Given the description of an element on the screen output the (x, y) to click on. 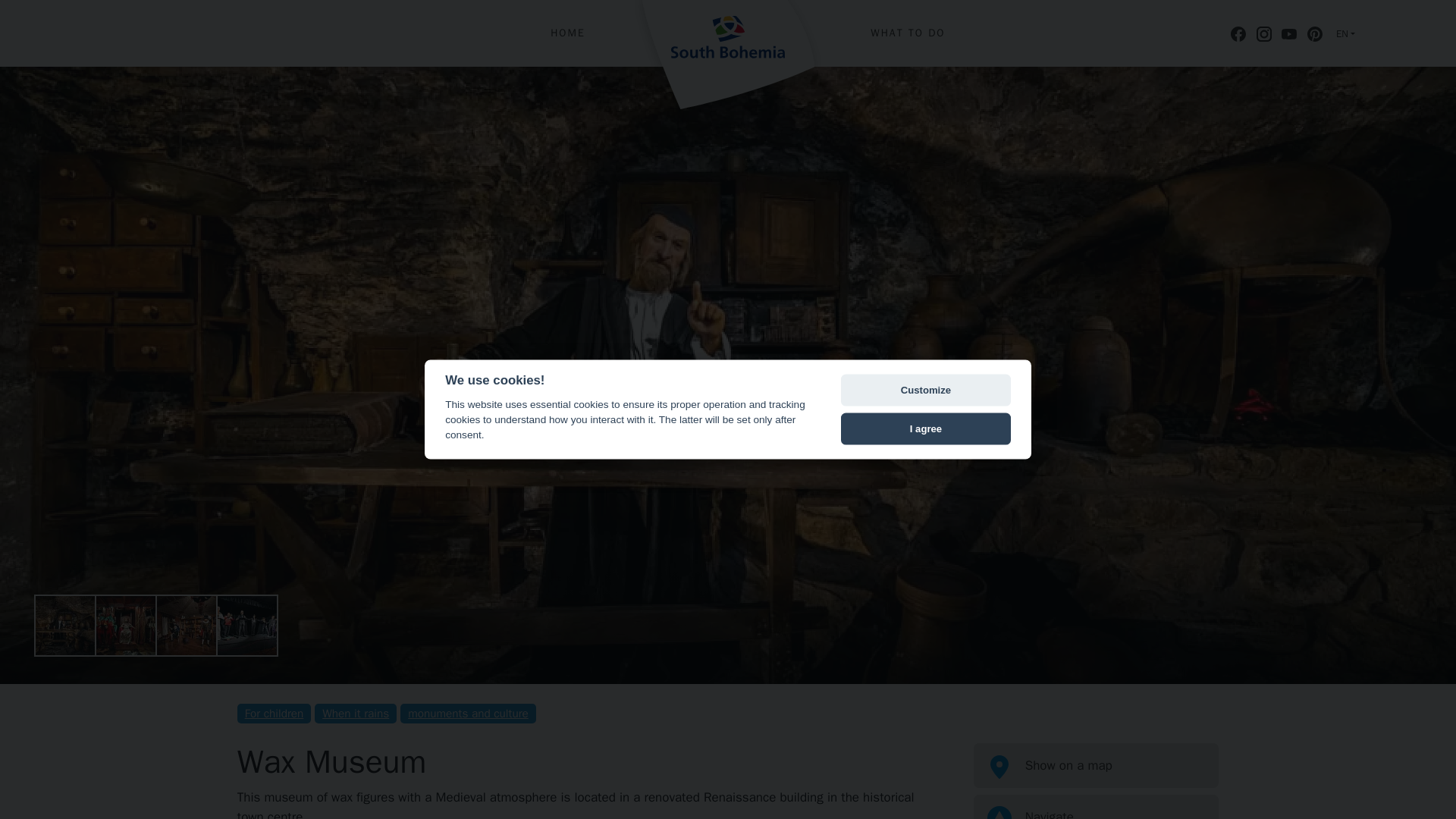
EN (1345, 32)
Show on a map (1097, 765)
monuments and culture (467, 713)
When it rains (355, 713)
For children (274, 713)
Navigate (1097, 806)
HOME (567, 33)
WHAT TO DO (907, 33)
